Given the description of an element on the screen output the (x, y) to click on. 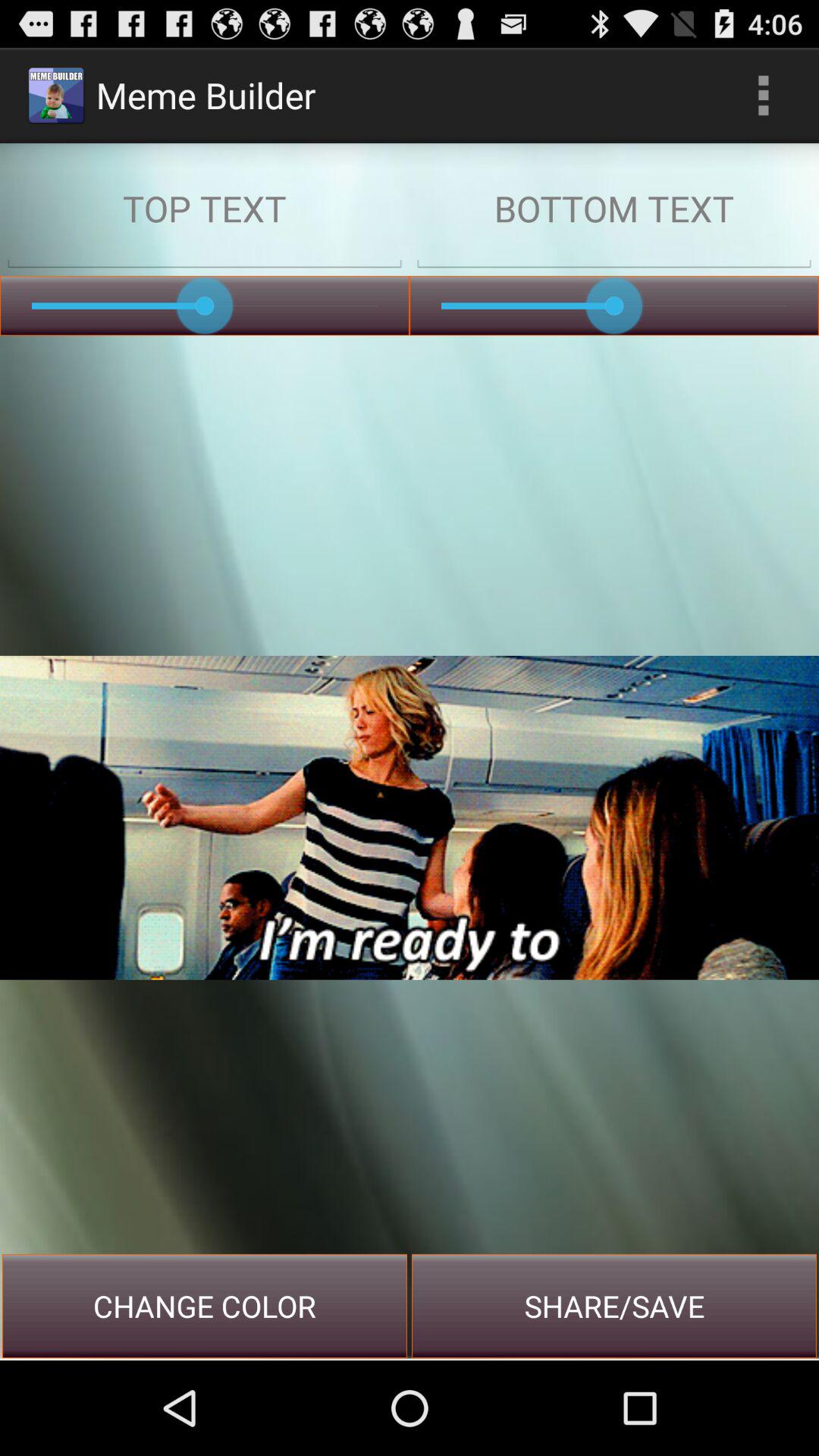
press button at the bottom left corner (204, 1306)
